Given the description of an element on the screen output the (x, y) to click on. 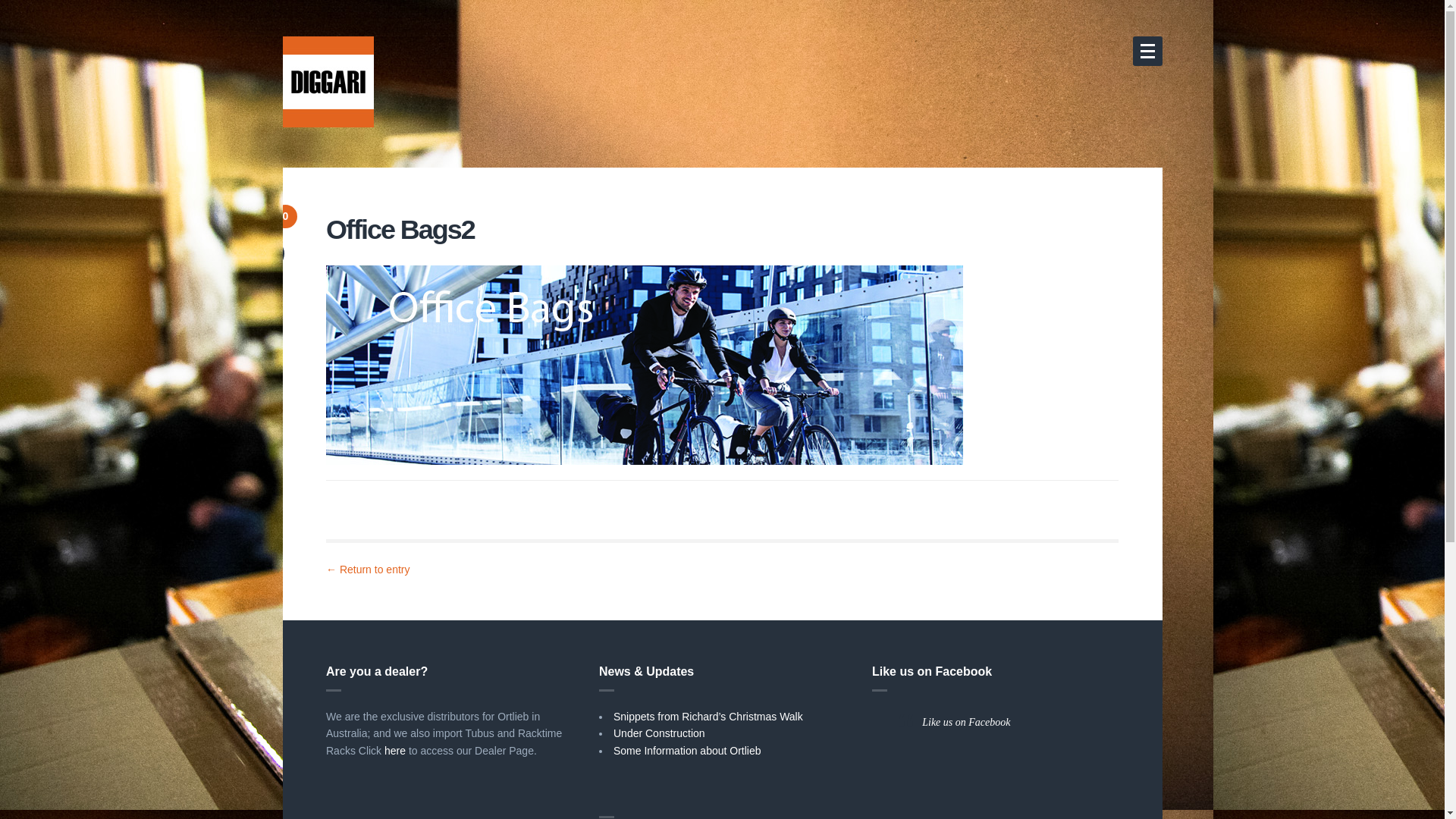
Thursday, July 25th, 2019, 10:41 am Element type: hover (269, 253)
0 Element type: text (285, 216)
Like us on Facebook Element type: text (931, 671)
Diggari Pty Ltd Element type: hover (327, 81)
Navigation Element type: hover (1147, 50)
Some Information about Ortlieb Element type: text (687, 750)
here Element type: text (394, 750)
Like us on Facebook Element type: text (966, 722)
Under Construction Element type: text (659, 733)
Office Bags2 Element type: hover (644, 363)
